Given the description of an element on the screen output the (x, y) to click on. 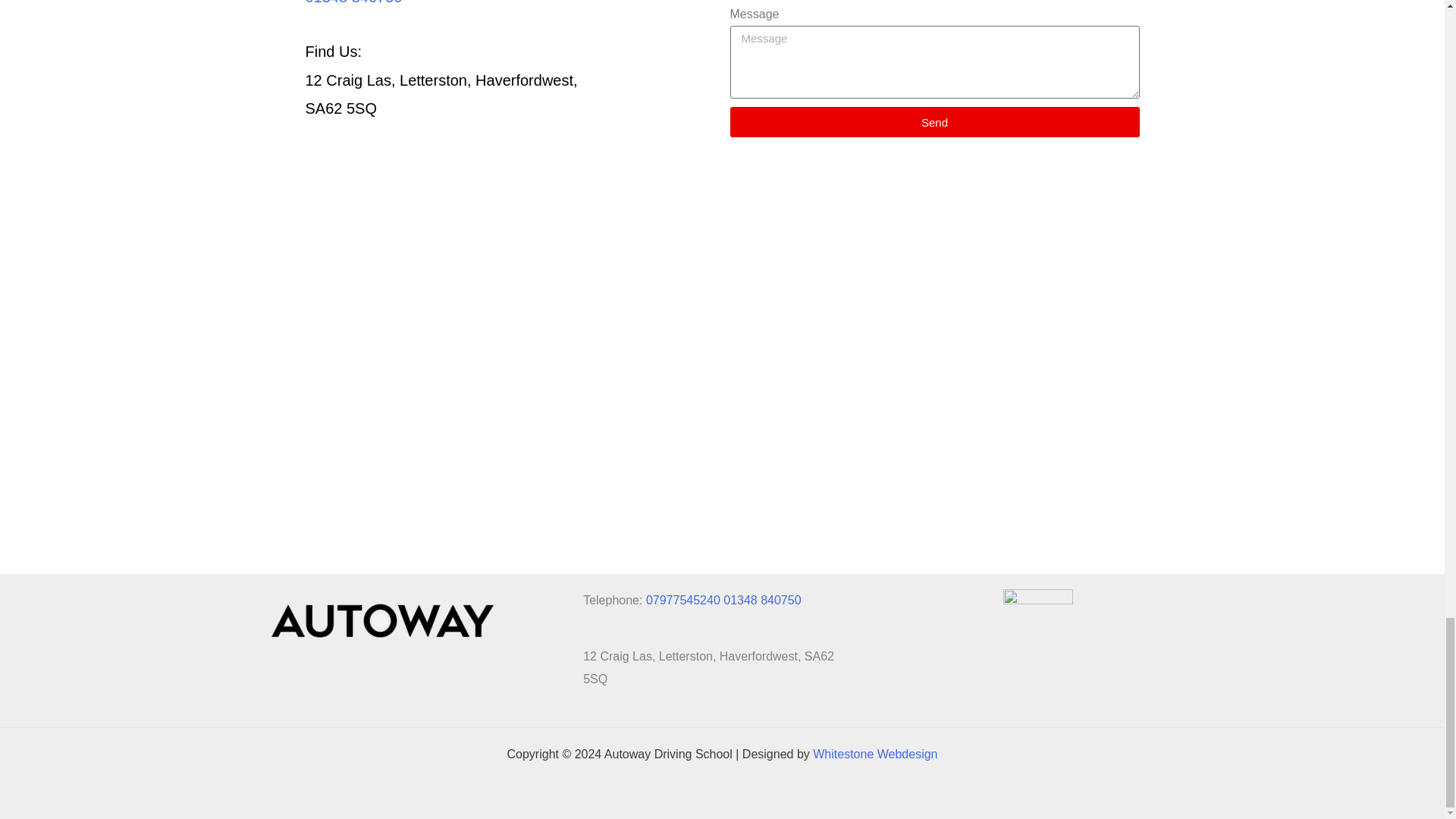
Send (933, 122)
Whitestone Webdesign (874, 753)
07977545240 (683, 599)
01348 840750 (761, 599)
01348 840750 (352, 2)
